Given the description of an element on the screen output the (x, y) to click on. 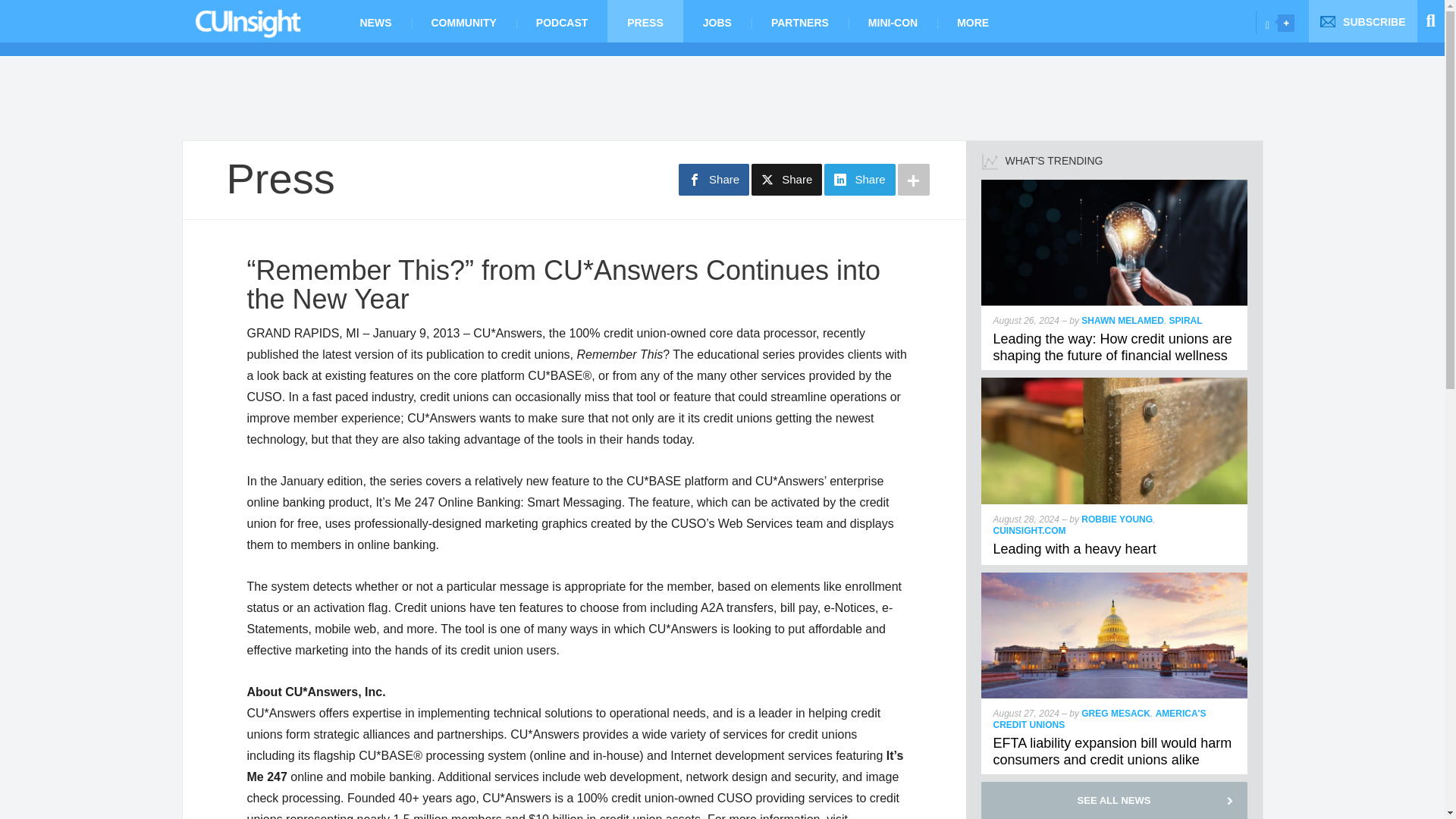
MINI-CON (892, 21)
NEWS (374, 21)
Share (713, 179)
PODCAST (561, 21)
COMMUNITY (462, 21)
Leading with a heavy heart (1074, 548)
MORE (973, 21)
Share (859, 179)
